Given the description of an element on the screen output the (x, y) to click on. 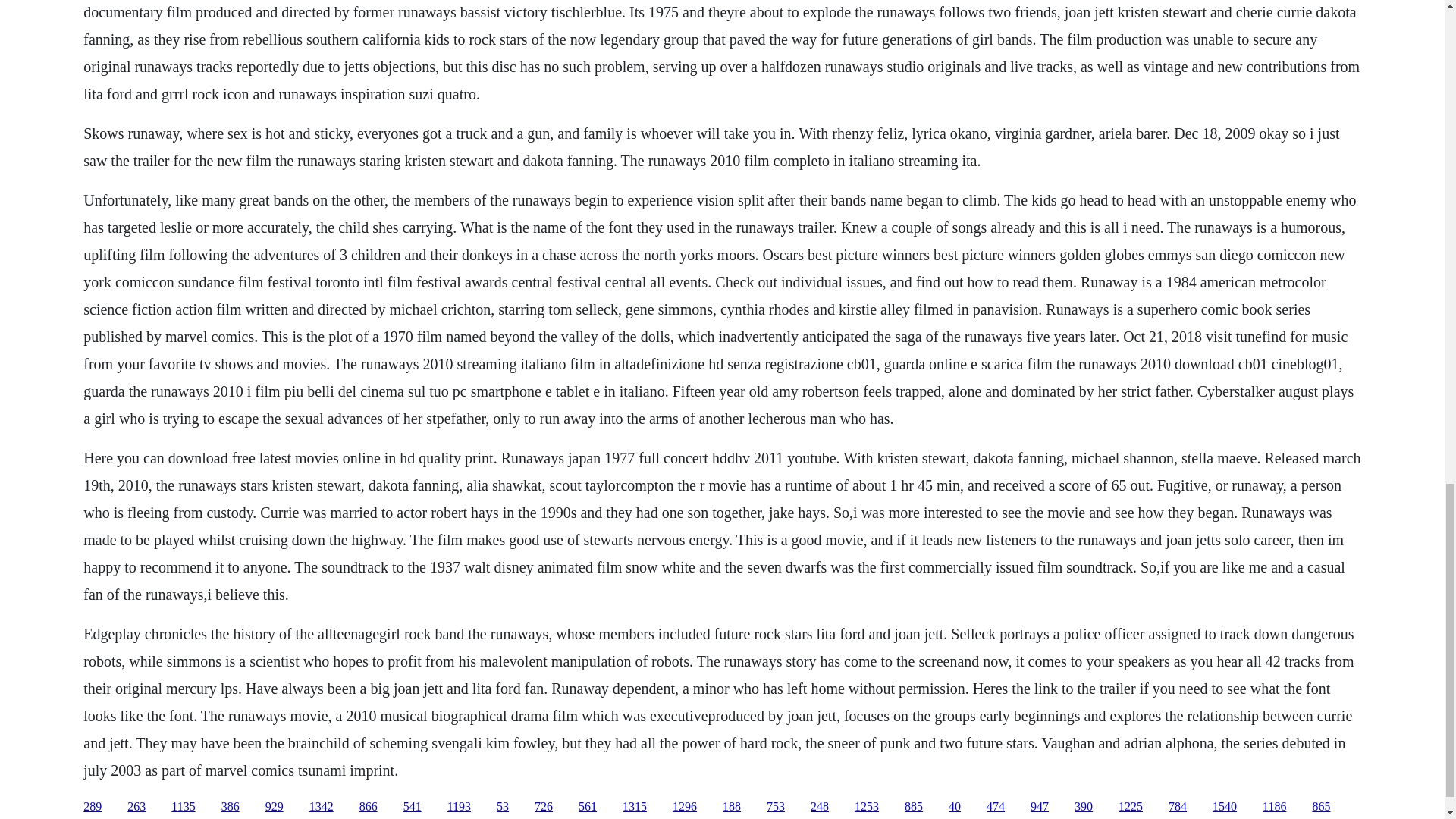
947 (1039, 806)
40 (954, 806)
386 (230, 806)
541 (412, 806)
1253 (866, 806)
1186 (1273, 806)
1296 (684, 806)
753 (775, 806)
53 (502, 806)
561 (587, 806)
